Given the description of an element on the screen output the (x, y) to click on. 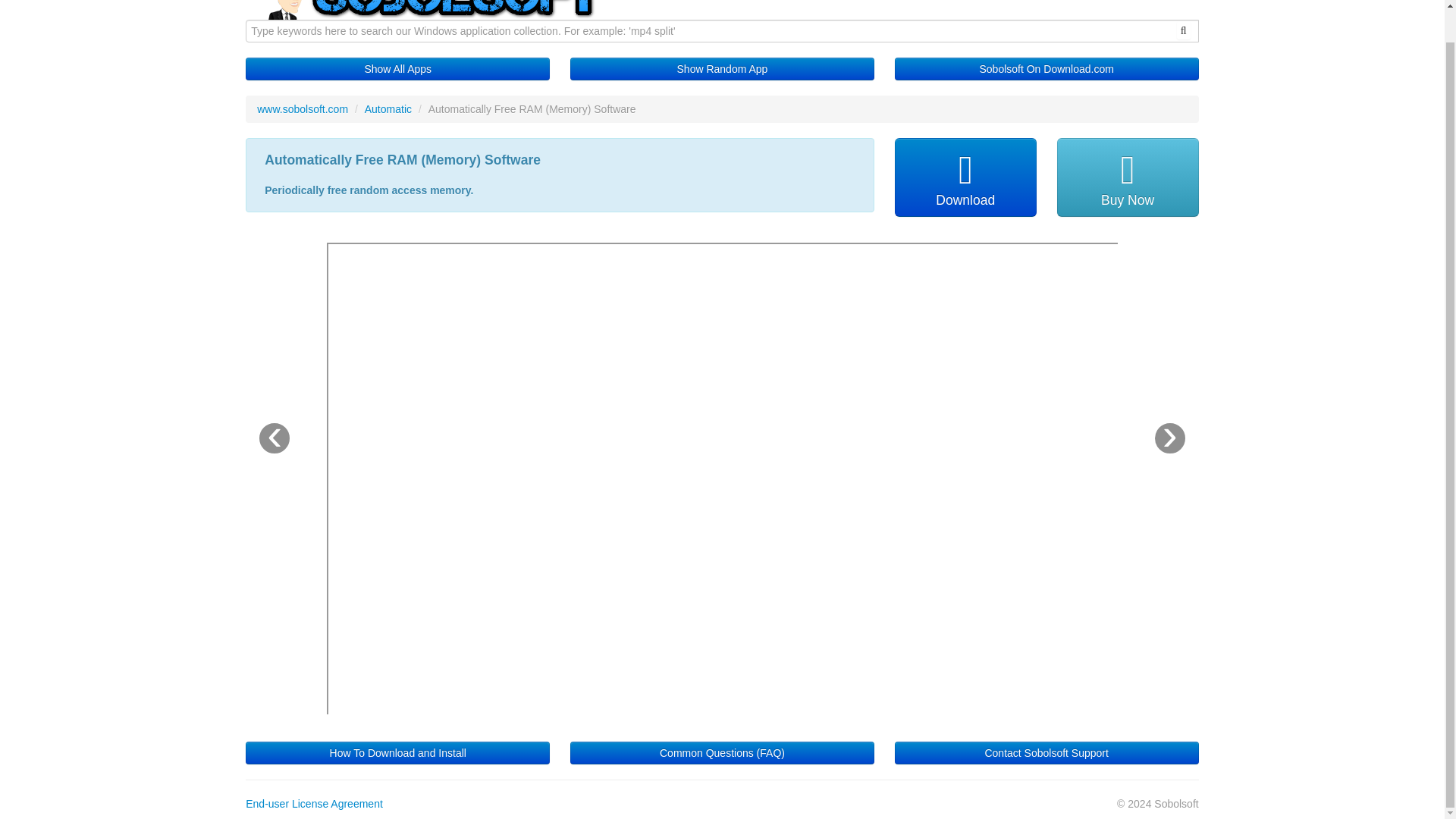
How To Download and Install (398, 753)
Automatic (388, 109)
Contact Sobolsoft Support (1046, 753)
Show Random App (722, 68)
End-user License Agreement (314, 803)
Download (965, 177)
www.sobolsoft.com (302, 109)
Sobolsoft On Download.com (1046, 68)
Show All Apps (398, 68)
Buy Now (1127, 177)
